Given the description of an element on the screen output the (x, y) to click on. 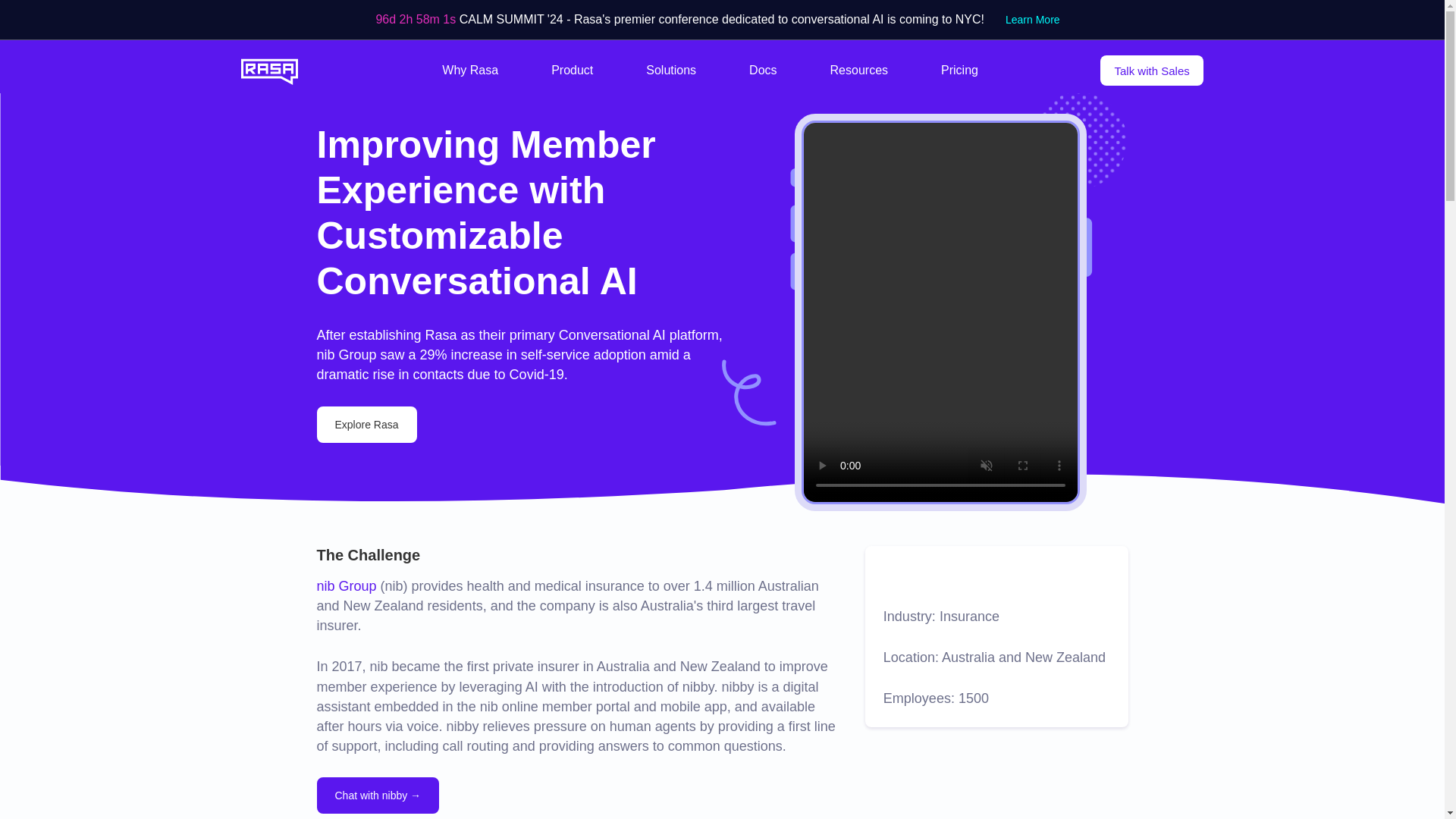
Why Rasa (469, 70)
Docs (762, 70)
Solutions (670, 70)
Learn More (1031, 19)
Resources (858, 70)
Product (571, 70)
